Given the description of an element on the screen output the (x, y) to click on. 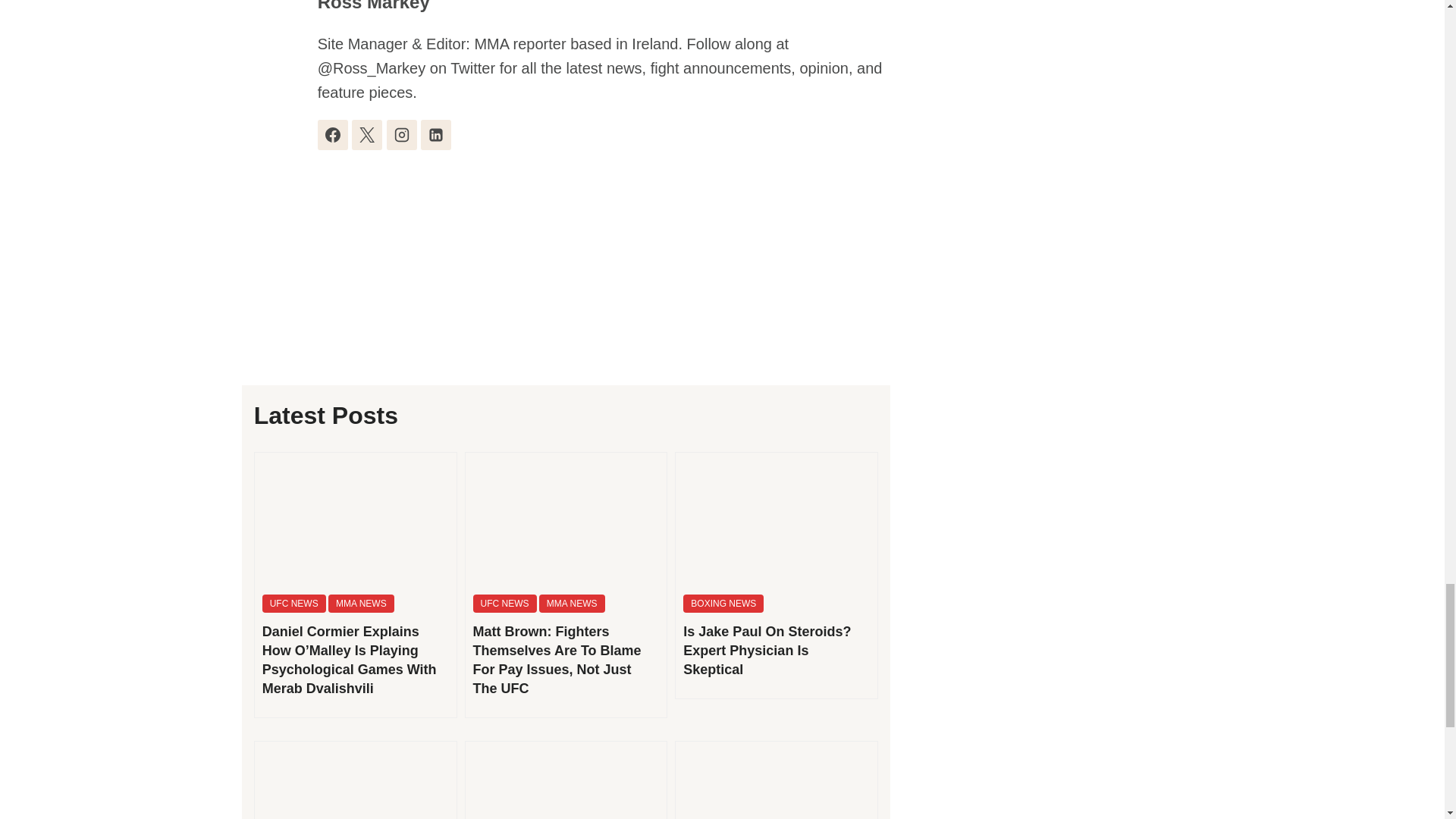
Is Jake Paul on Steroids? Expert Physician is Skeptical 4 (776, 519)
Follow Ross Markey on Facebook (332, 134)
Follow Ross Markey on Linkedin (435, 134)
Follow Ross Markey on Instagram (401, 134)
Follow Ross Markey on X formerly Twitter (366, 134)
Posts by Ross Markey (373, 6)
